Given the description of an element on the screen output the (x, y) to click on. 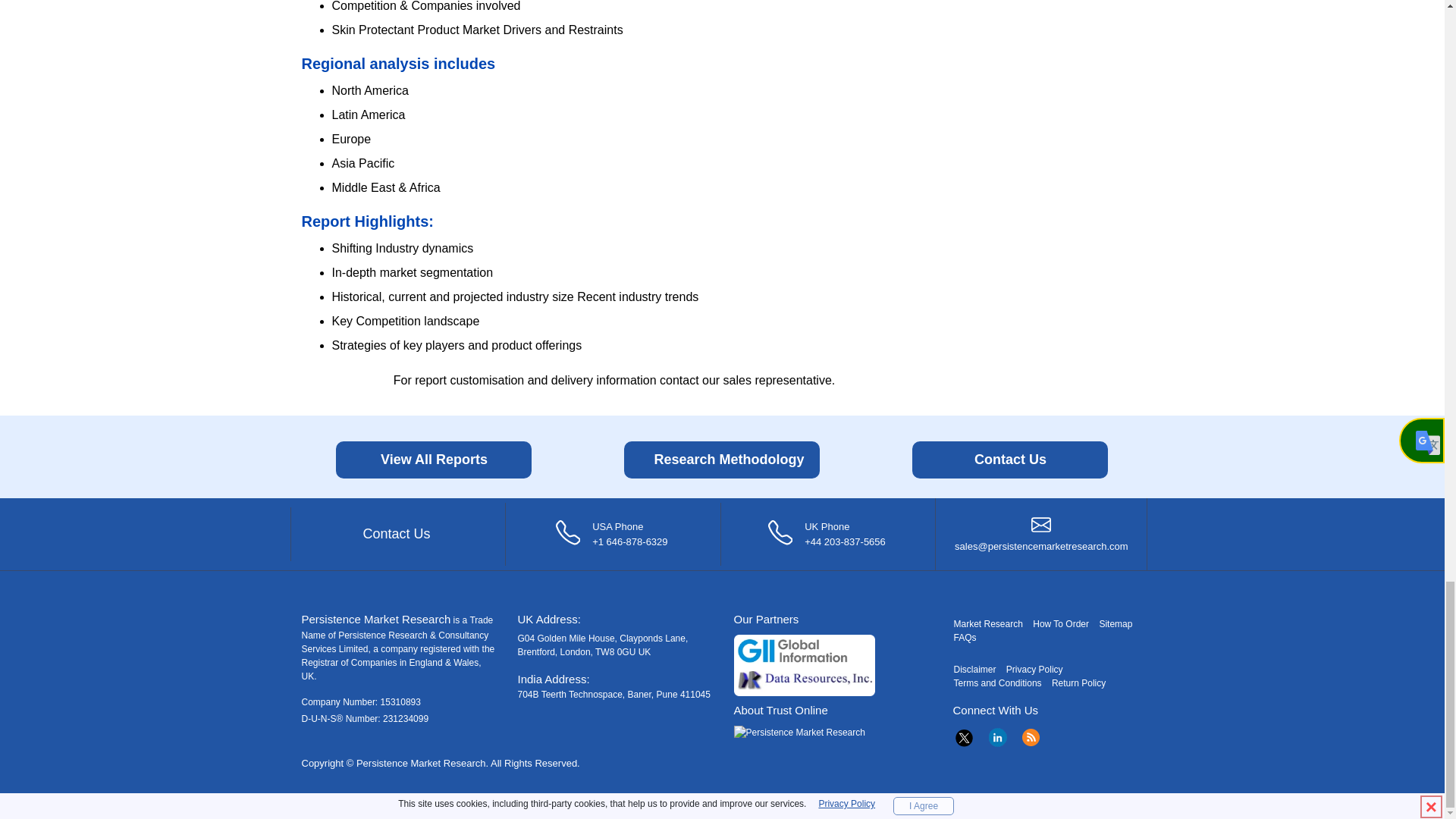
View All Reports (433, 459)
Research Methodology (721, 459)
Contact Us (1010, 459)
